Given the description of an element on the screen output the (x, y) to click on. 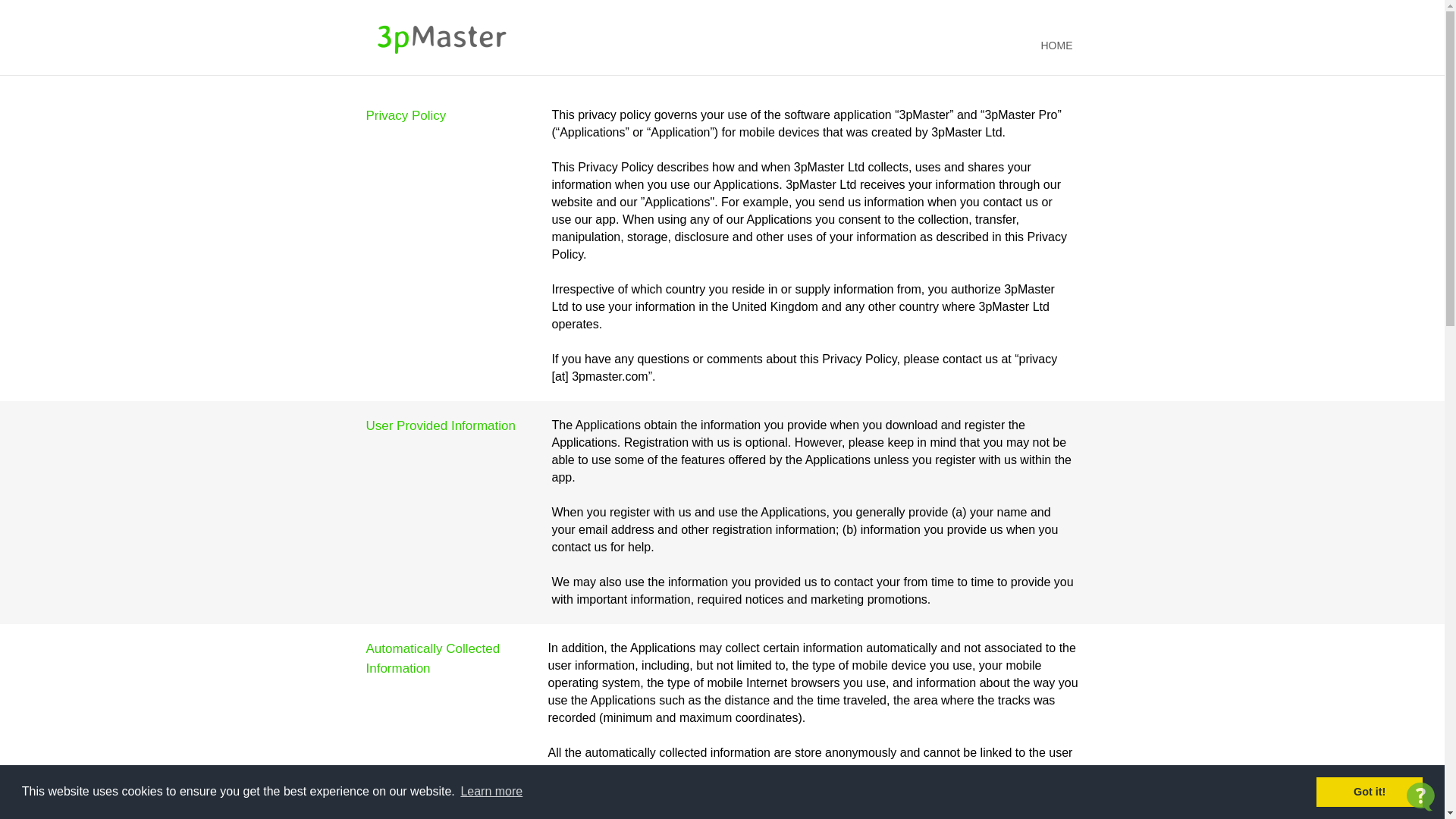
Learn more Element type: text (491, 791)
HOME Element type: text (1056, 45)
Got it! Element type: text (1369, 791)
